Given the description of an element on the screen output the (x, y) to click on. 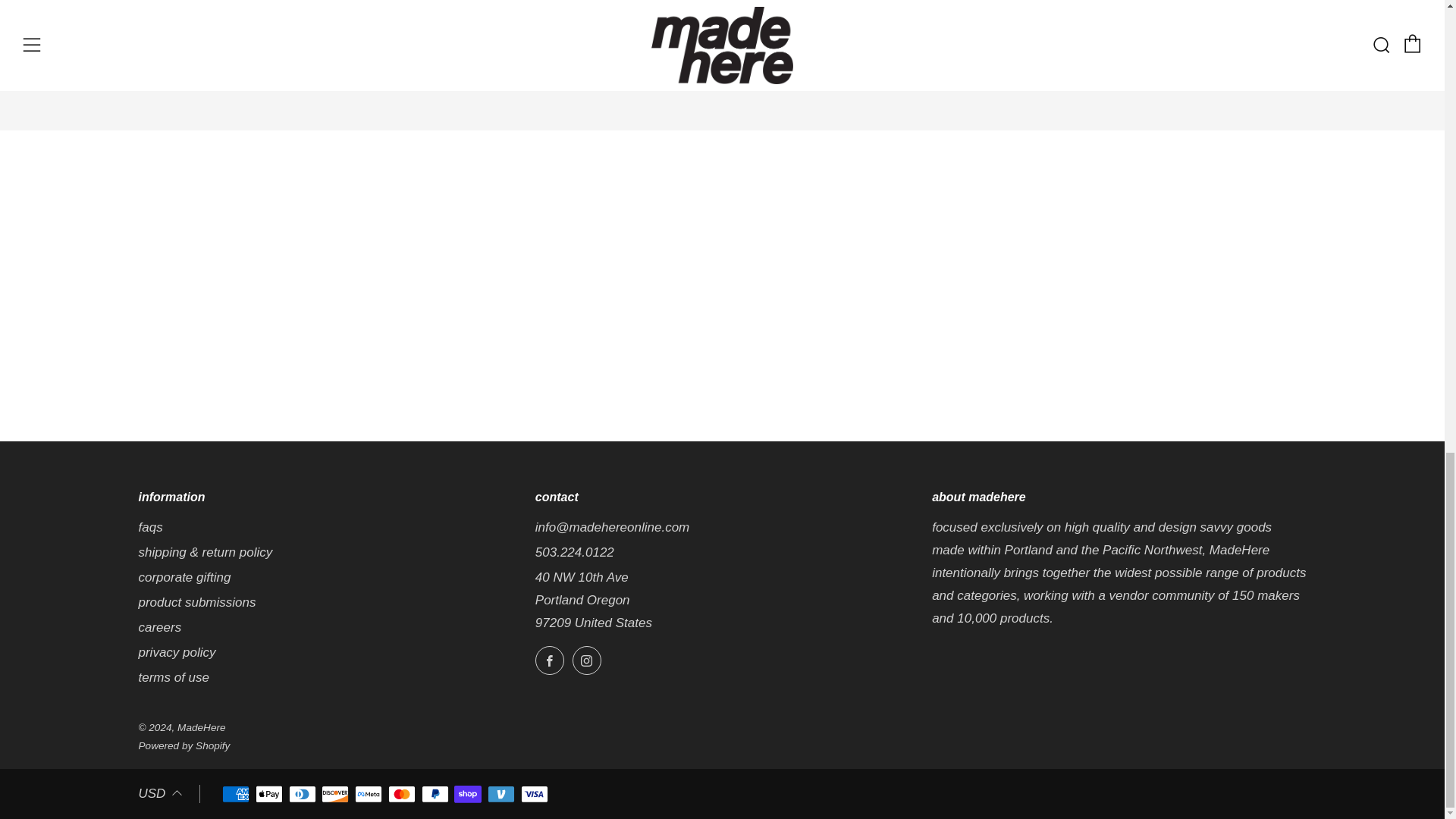
Visa (534, 794)
Infused Sea Salt by Jacobsen Salt Co. (699, 42)
Meta Pay (368, 794)
Salty Caramels by Jacobsen (478, 29)
Discover (335, 794)
American Express (235, 794)
Honey Sticks by Jacobsen Salt Co. (922, 42)
Jacobsen Salt Co. (377, 40)
Venmo (501, 794)
Slide Salt Tin by Jacobsen Salt Co. (1144, 42)
PayPal (435, 794)
Shop Pay (467, 794)
Mastercard (401, 794)
Apple Pay (269, 794)
Diners Club (301, 794)
